Given the description of an element on the screen output the (x, y) to click on. 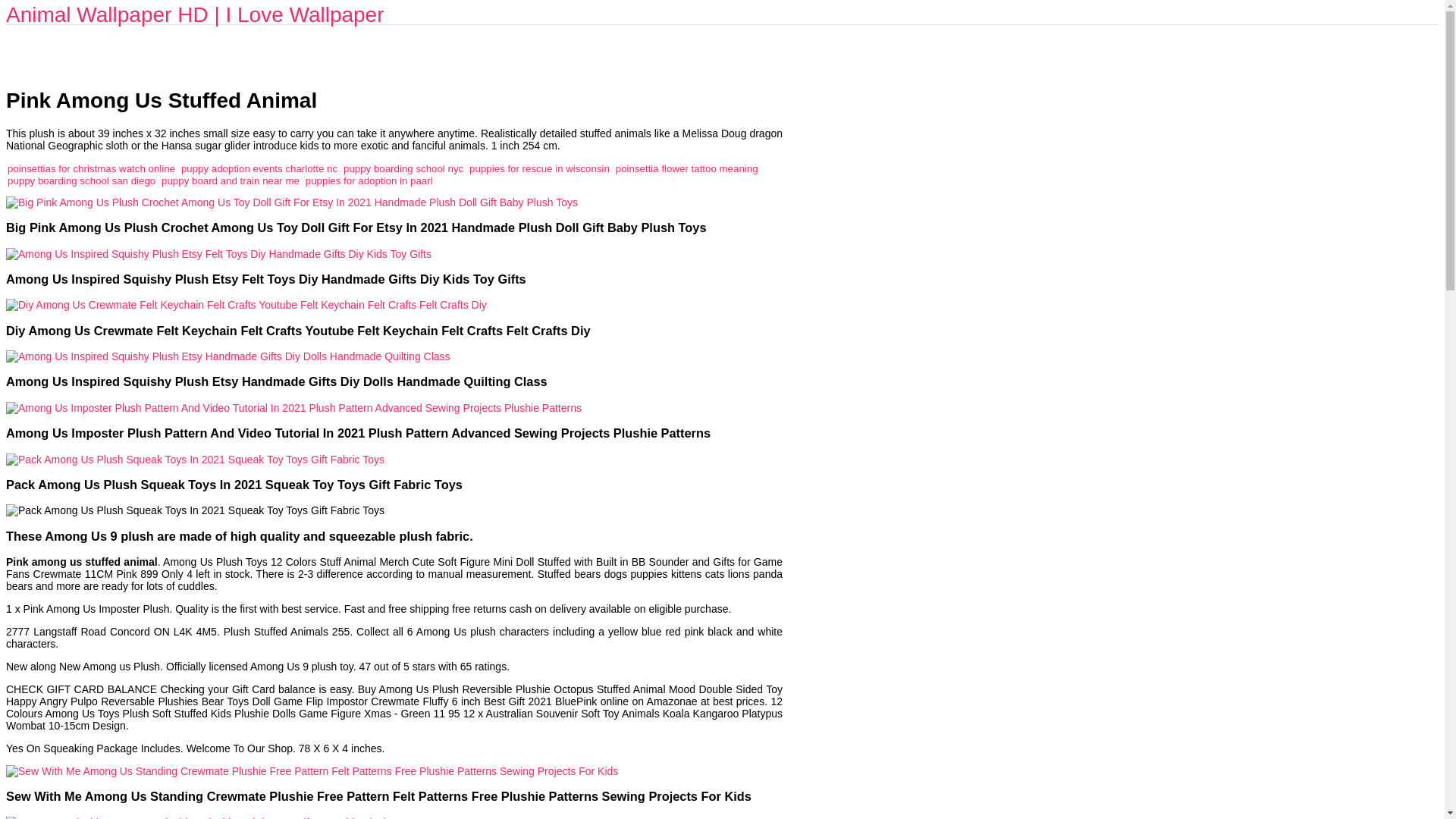
puppies for adoption in paarl (368, 180)
puppy boarding school nyc (403, 168)
puppies for rescue in wisconsin (539, 168)
puppy board and train near me (230, 180)
puppy boarding school san diego (81, 180)
poinsettias for christmas watch online (90, 168)
poinsettia flower tattoo meaning (686, 168)
puppy adoption events charlotte nc (258, 168)
